Given the description of an element on the screen output the (x, y) to click on. 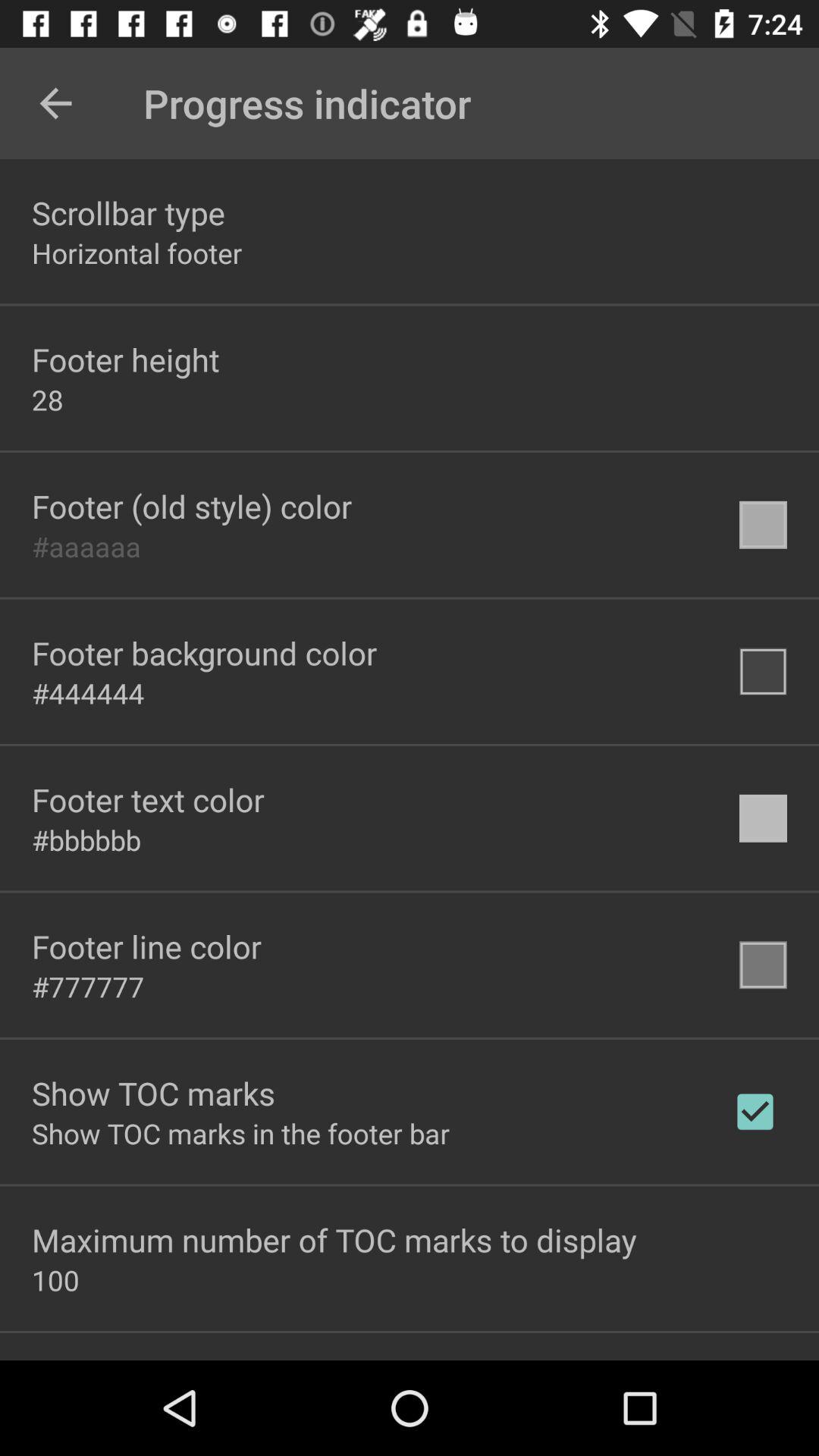
jump until #bbbbbb (86, 839)
